Given the description of an element on the screen output the (x, y) to click on. 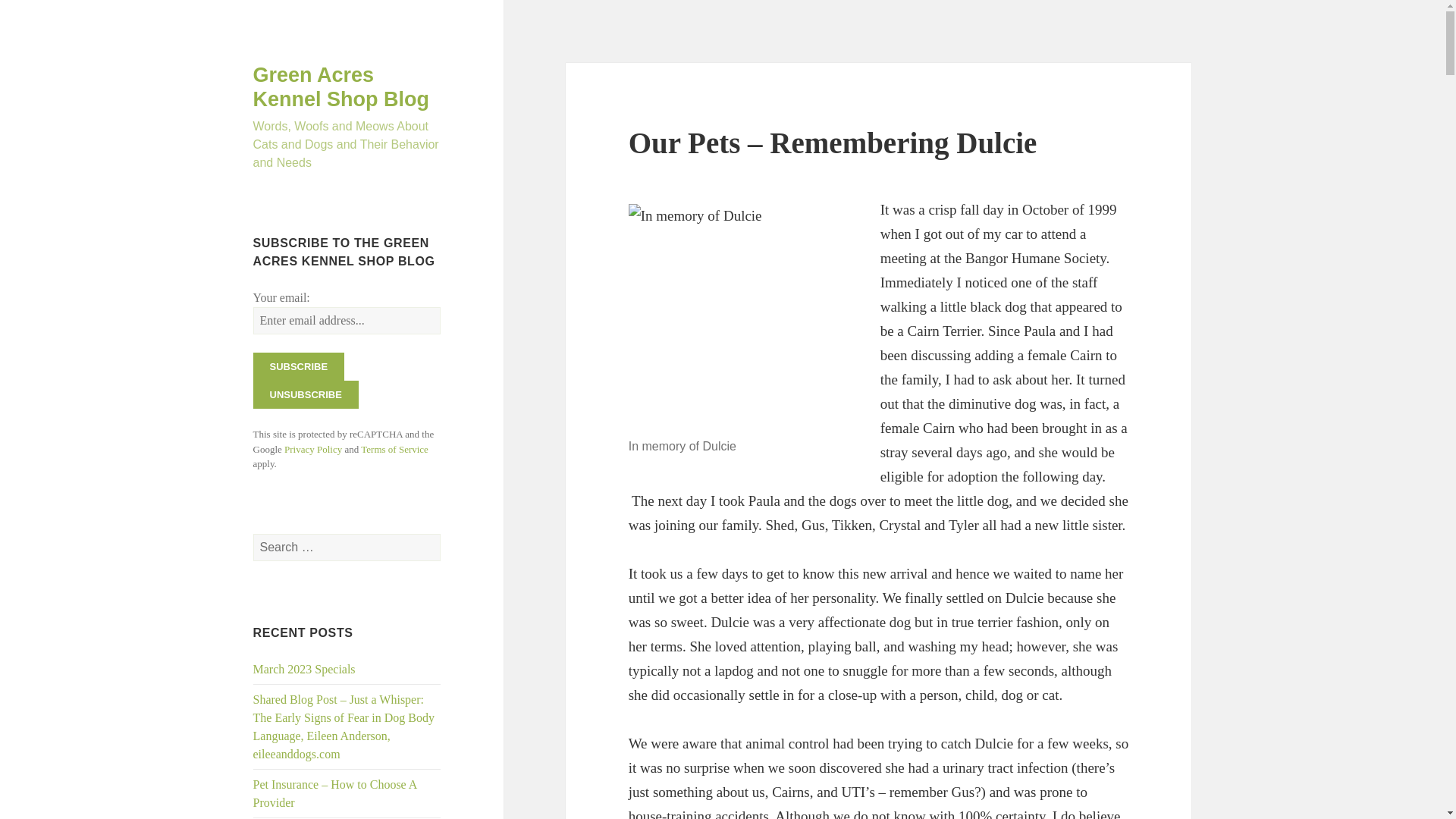
Enter email address... (347, 320)
March 2023 Specials (304, 668)
Subscribe (299, 366)
Unsubscribe (305, 394)
Subscribe (299, 366)
Unsubscribe (305, 394)
Terms of Service (394, 449)
Privacy Policy (312, 449)
